Given the description of an element on the screen output the (x, y) to click on. 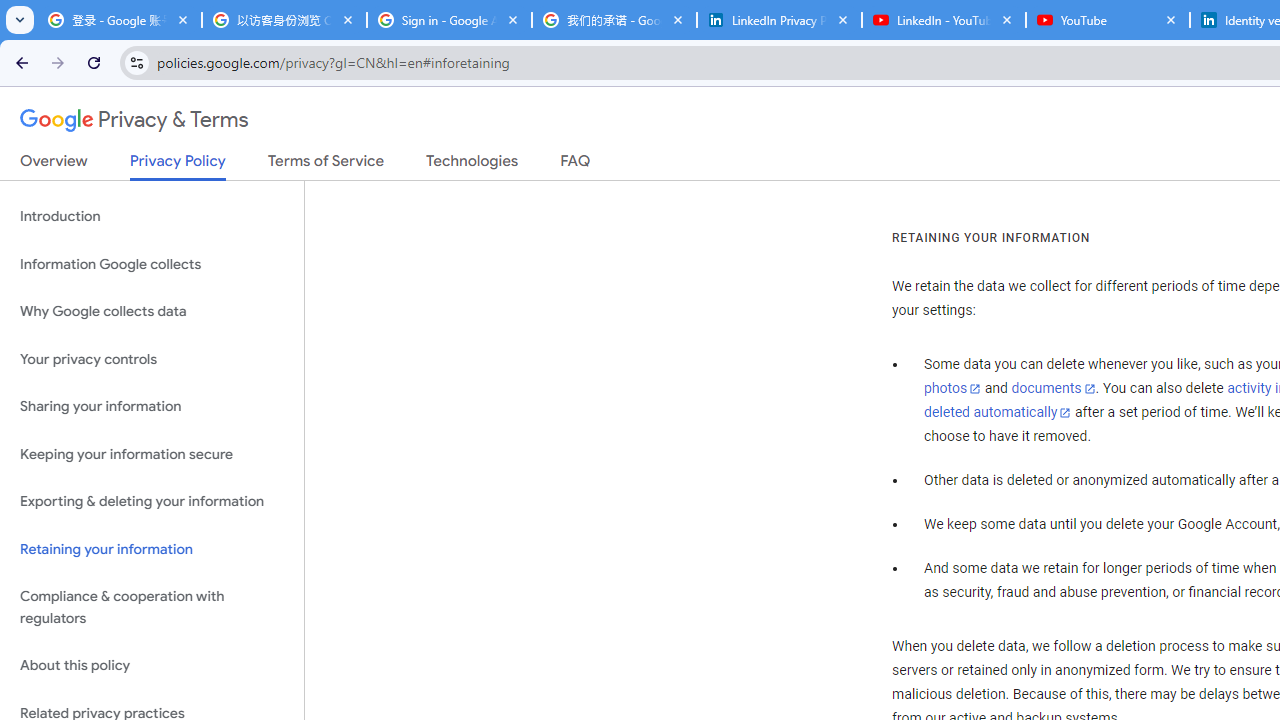
documents (1053, 389)
Exporting & deleting your information (152, 502)
Why Google collects data (152, 312)
LinkedIn Privacy Policy (779, 20)
photos (952, 389)
